Given the description of an element on the screen output the (x, y) to click on. 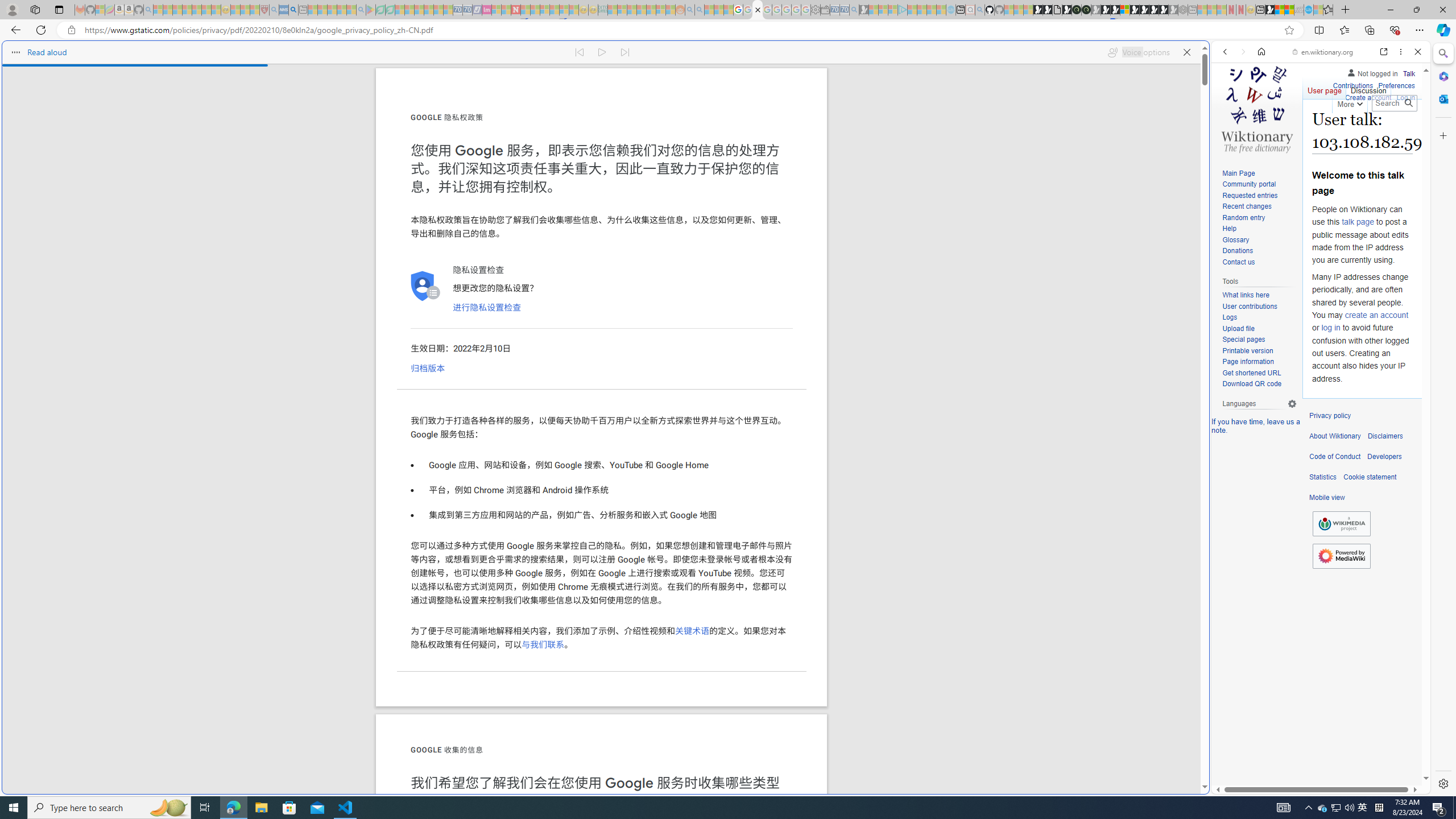
Privacy policy (1329, 415)
Get shortened URL (1259, 373)
google - Search - Sleeping (360, 9)
Contact us (1259, 262)
Go (1408, 102)
